Given the description of an element on the screen output the (x, y) to click on. 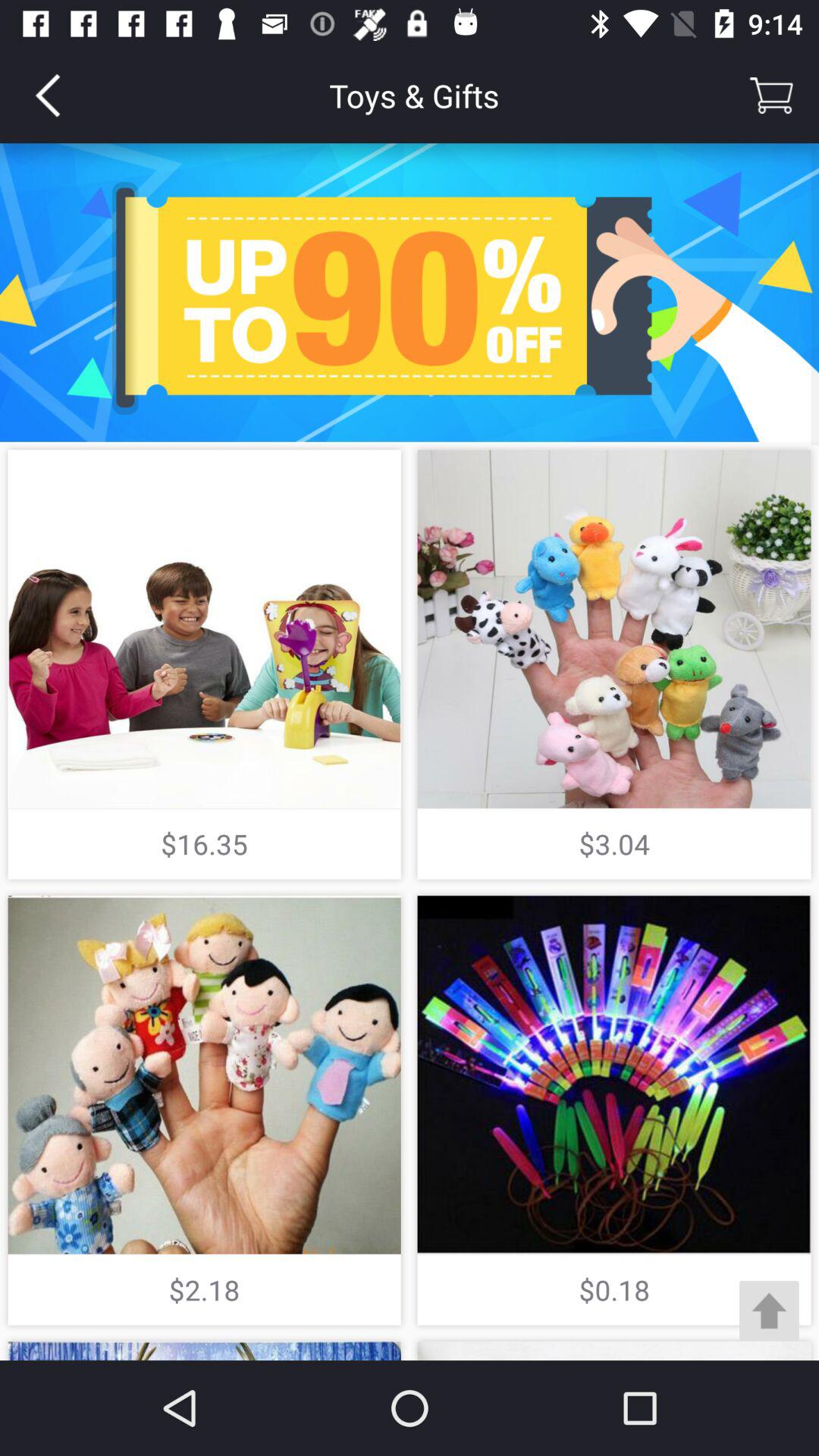
press item to the right of $2.18 (769, 1310)
